Given the description of an element on the screen output the (x, y) to click on. 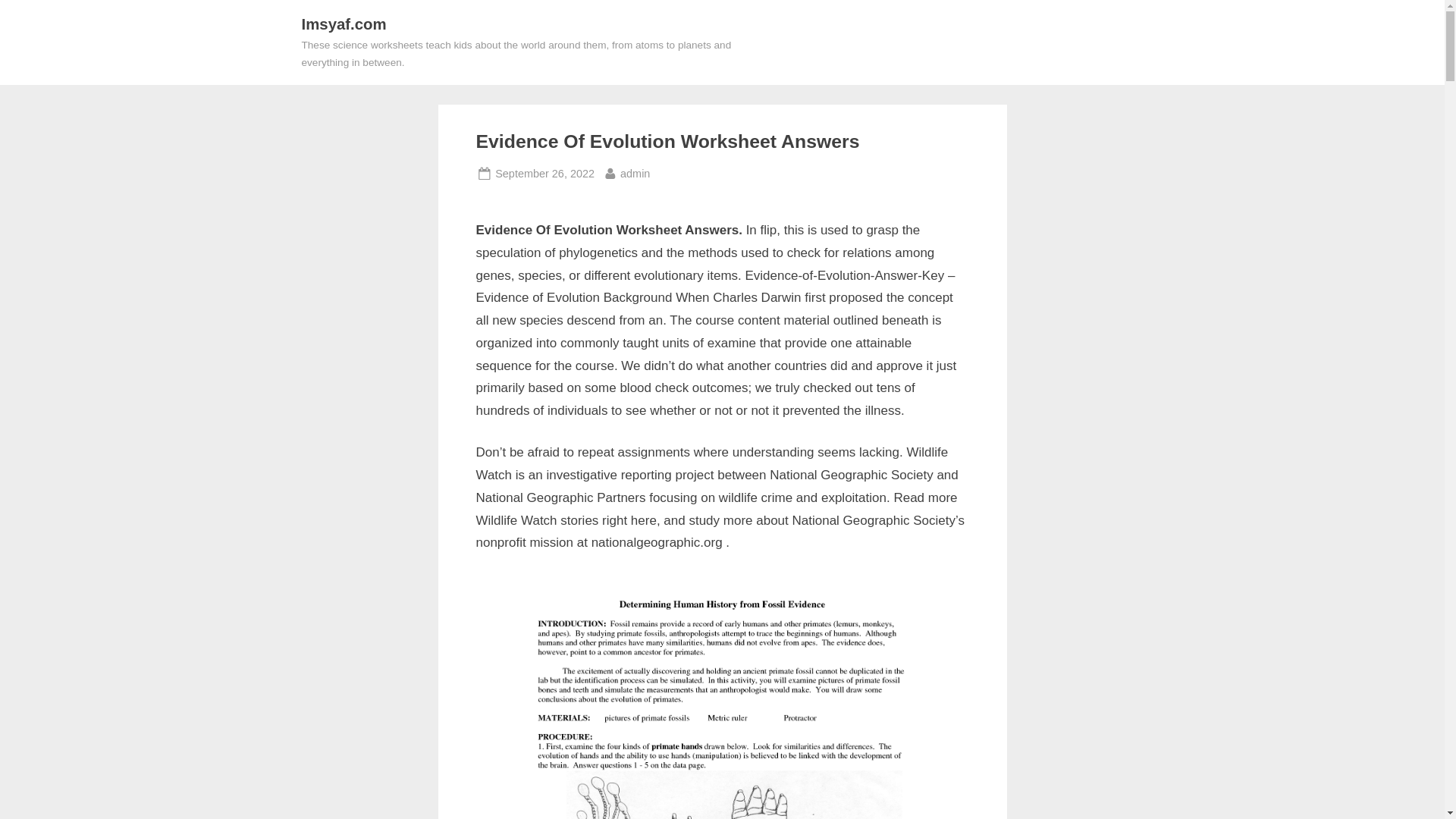
Imsyaf.com (544, 173)
